Given the description of an element on the screen output the (x, y) to click on. 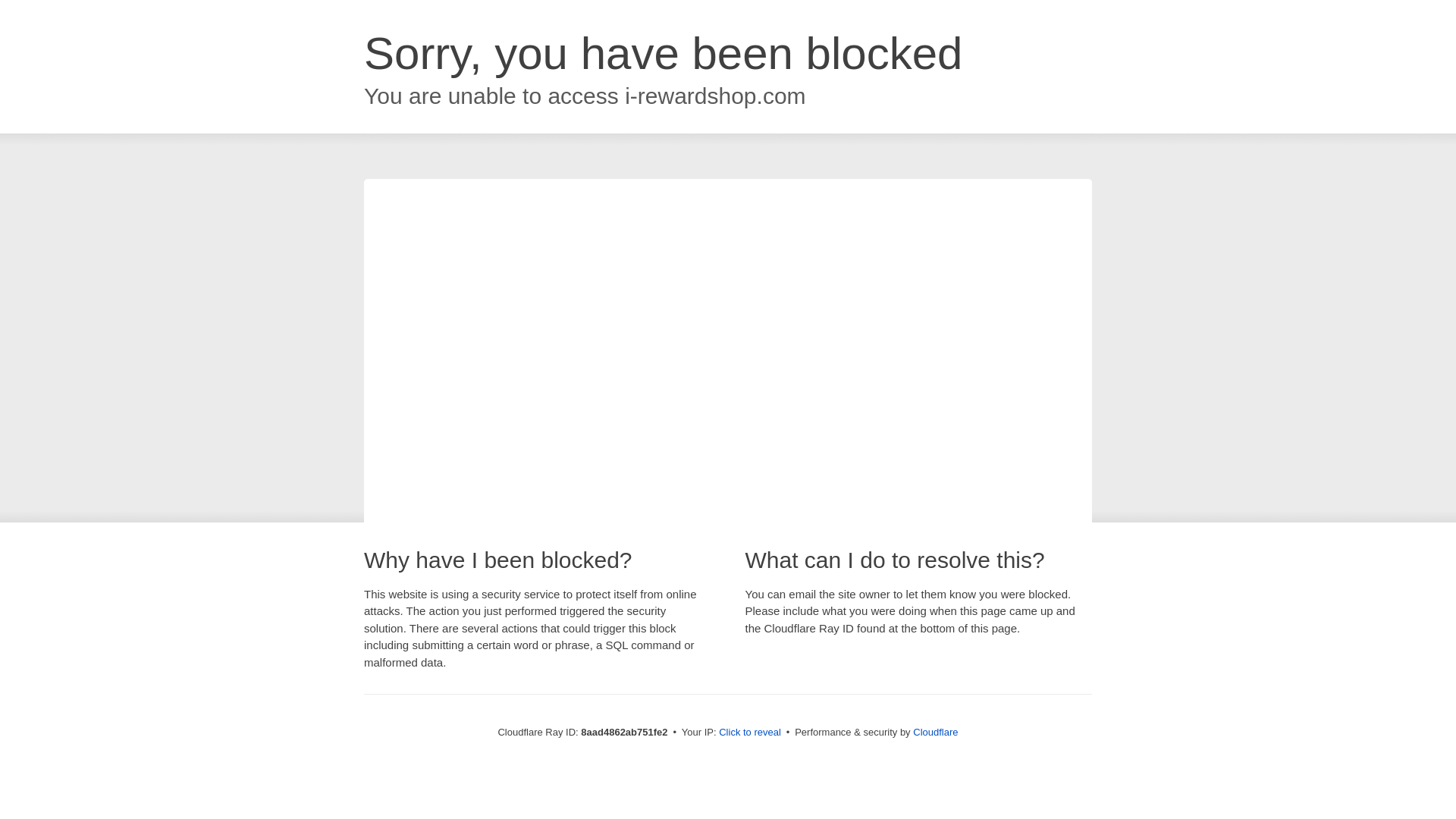
Click to reveal (749, 732)
Cloudflare (935, 731)
